Given the description of an element on the screen output the (x, y) to click on. 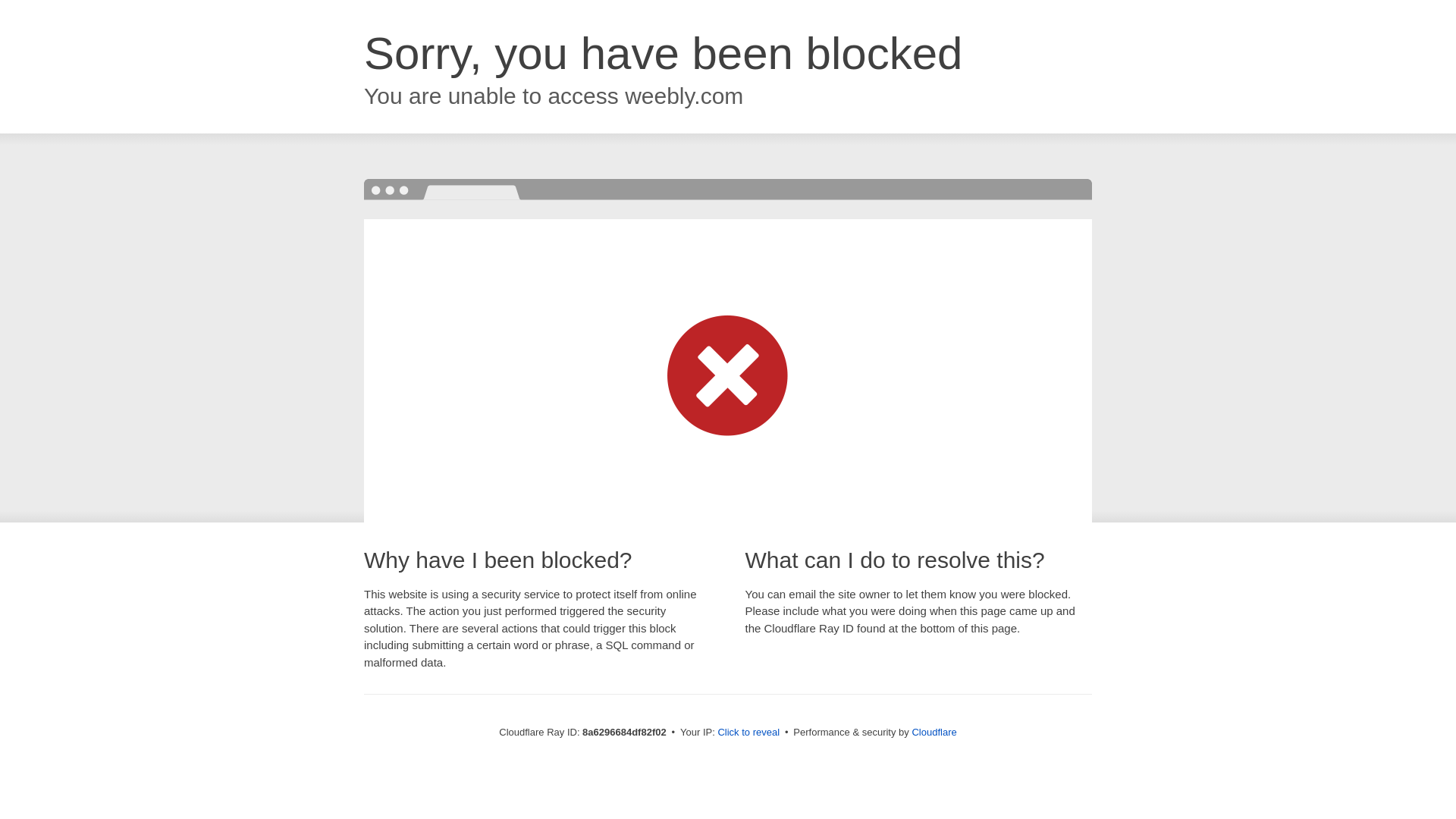
Click to reveal (747, 732)
Cloudflare (933, 731)
